Given the description of an element on the screen output the (x, y) to click on. 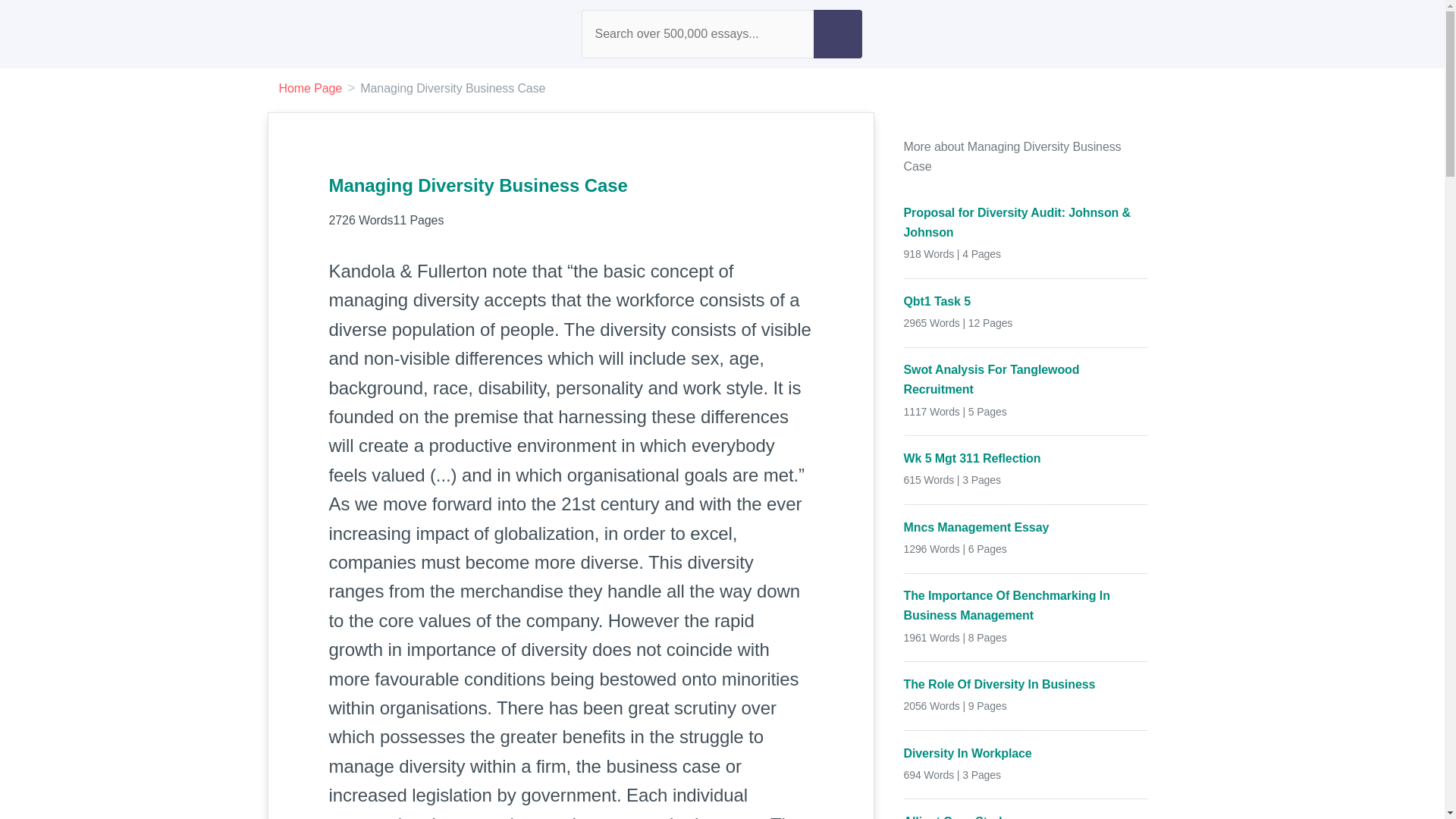
Home Page (310, 88)
Swot Analysis For Tanglewood Recruitment (1026, 379)
Qbt1 Task 5 (1026, 301)
The Role Of Diversity In Business (1026, 684)
Diversity In Workplace (1026, 752)
Alliant Case Study (1026, 815)
The Importance Of Benchmarking In Business Management (1026, 605)
Wk 5 Mgt 311 Reflection (1026, 458)
Mncs Management Essay (1026, 527)
